Given the description of an element on the screen output the (x, y) to click on. 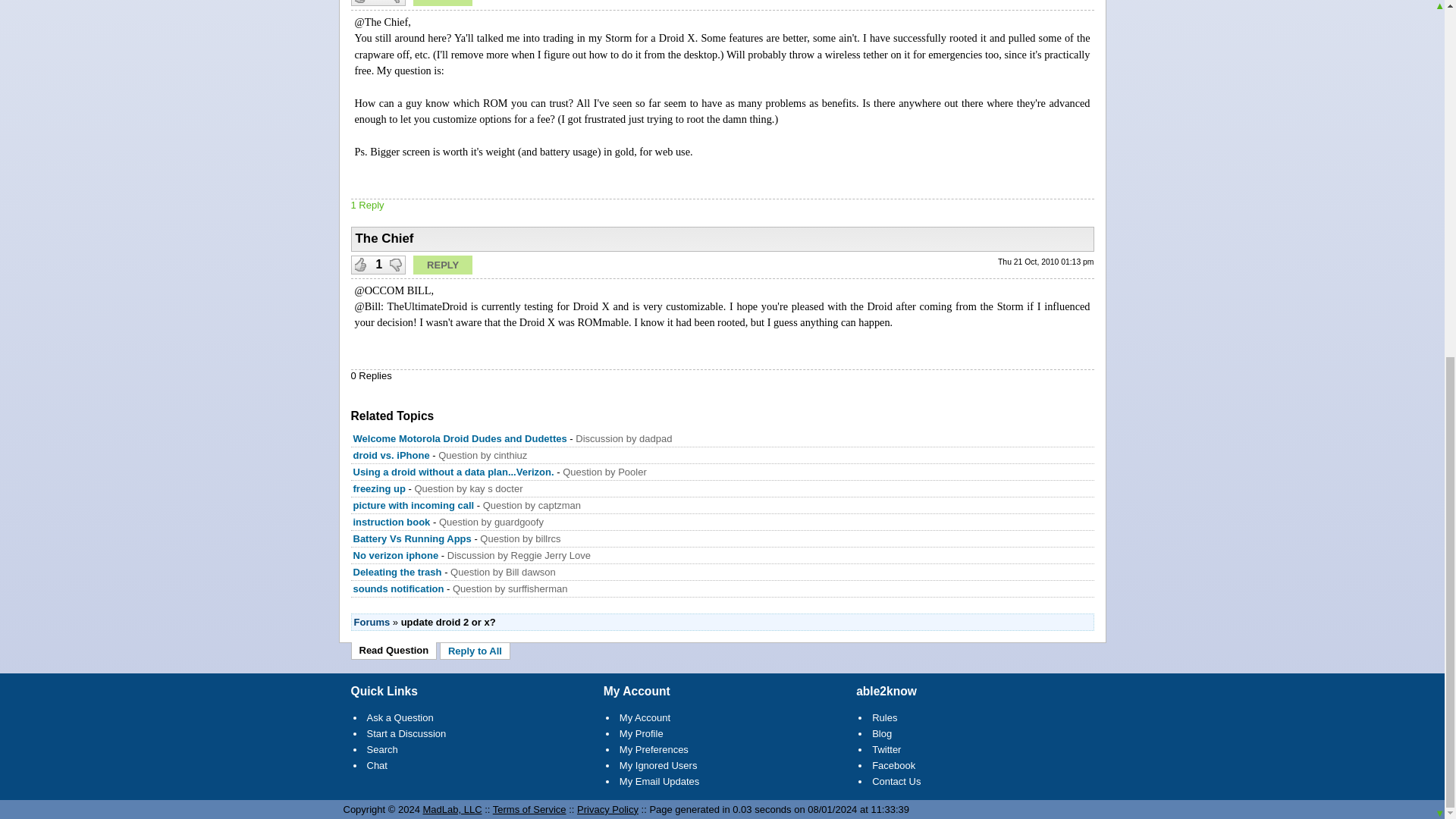
droid vs. iPhone (391, 455)
Ask a Question (399, 717)
Deleating the trash (397, 572)
Reply to All (475, 651)
instruction book (391, 521)
Welcome Motorola Droid Dudes and Dudettes (460, 438)
Forums (371, 622)
Battery Vs Running Apps (412, 538)
Using a droid without a data plan...Verizon. (453, 471)
No verizon iphone (397, 555)
Reply (442, 264)
Chat (376, 765)
Ask a Question (399, 717)
Reply to All (475, 651)
sounds notification (398, 588)
